Given the description of an element on the screen output the (x, y) to click on. 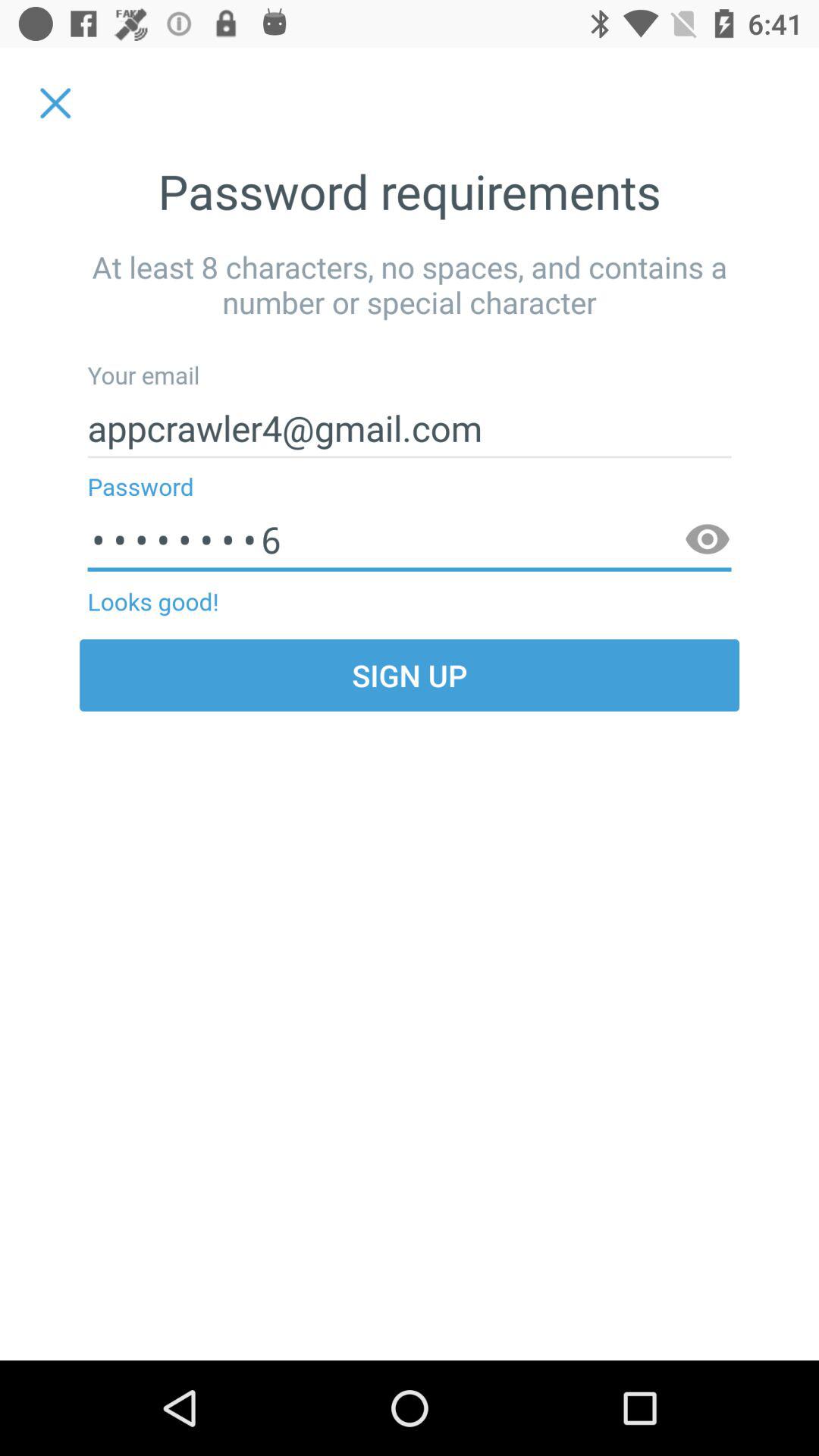
select the item at the top left corner (55, 103)
